Given the description of an element on the screen output the (x, y) to click on. 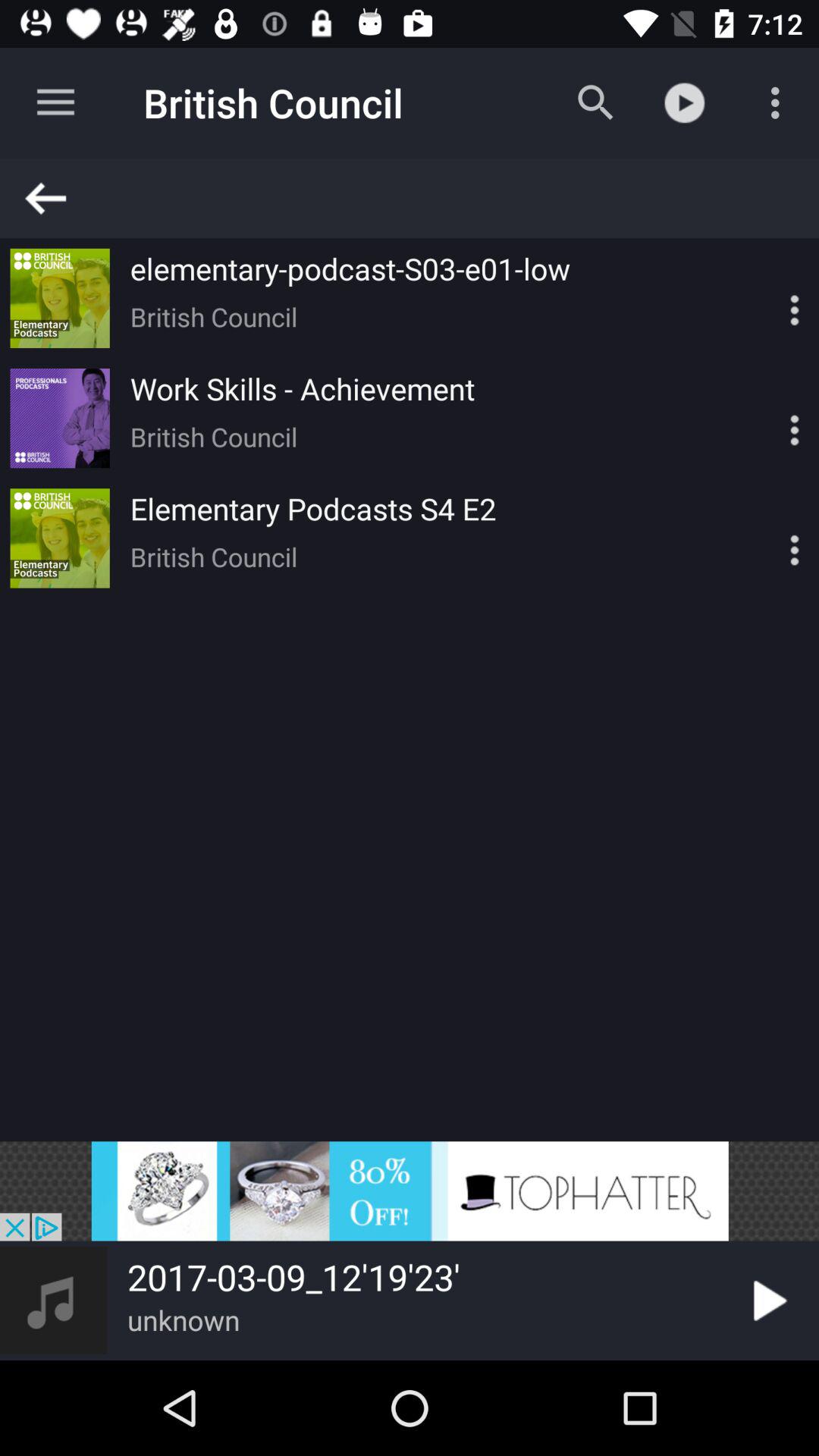
advertisement banner (409, 1191)
